Given the description of an element on the screen output the (x, y) to click on. 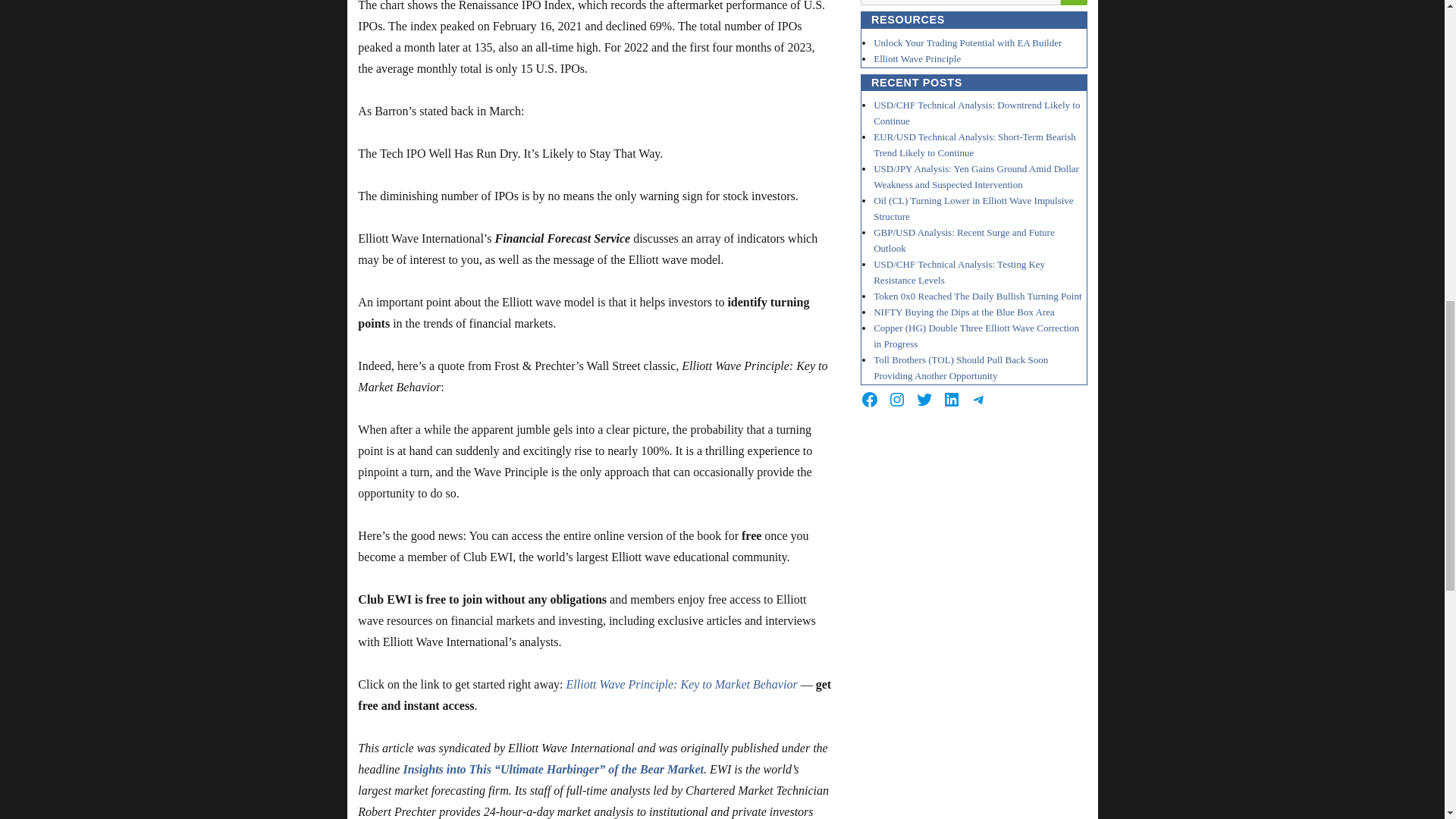
Elliott Wave Principle: Key to Market Behavior (681, 684)
